Given the description of an element on the screen output the (x, y) to click on. 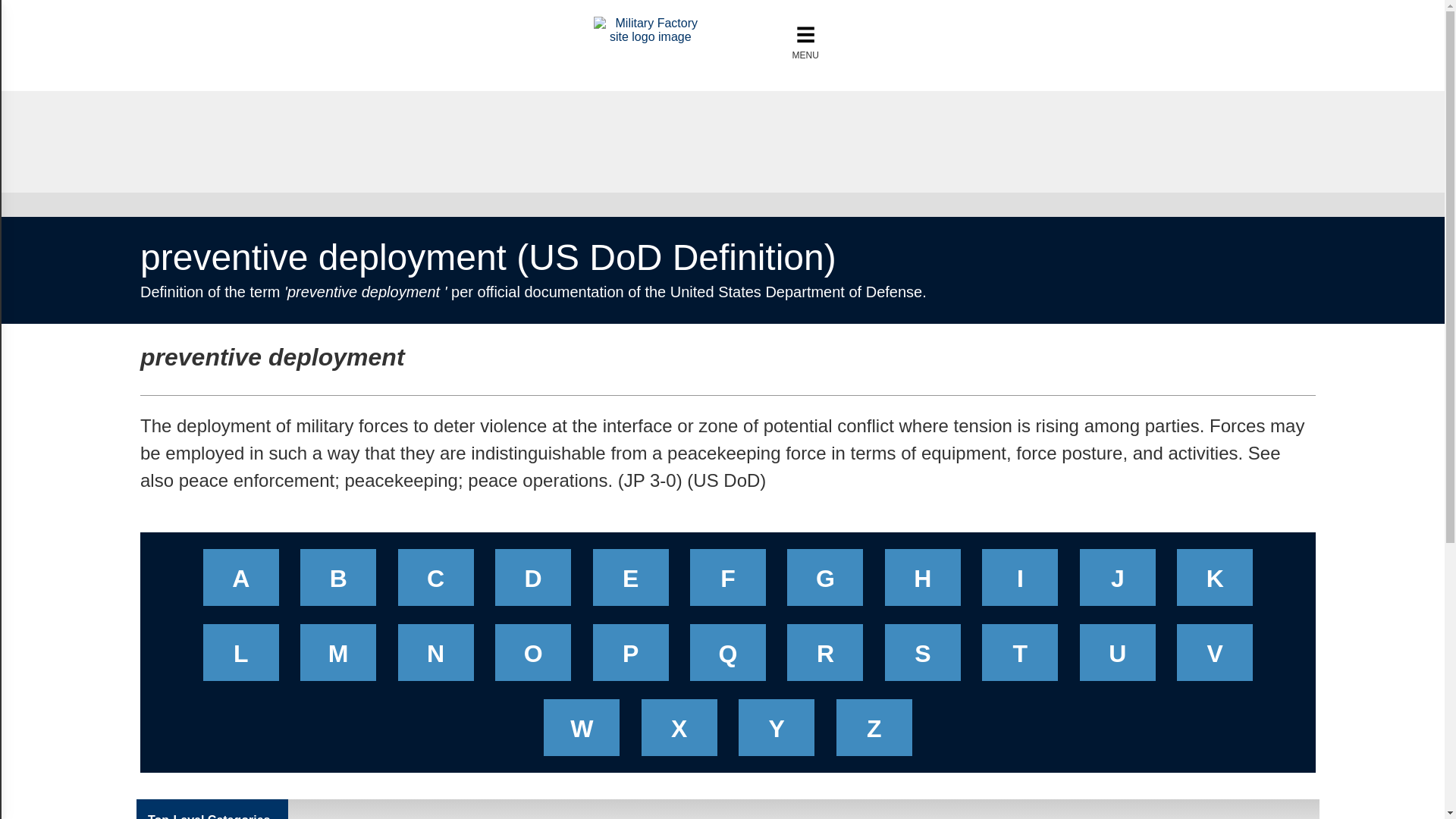
K (1214, 582)
C (435, 582)
M (338, 657)
D (532, 582)
H (922, 582)
R (824, 657)
I (1019, 582)
B (338, 582)
A (240, 582)
P (630, 657)
Military Weapons (650, 36)
N (435, 657)
S (922, 657)
L (240, 657)
J (1117, 582)
